Given the description of an element on the screen output the (x, y) to click on. 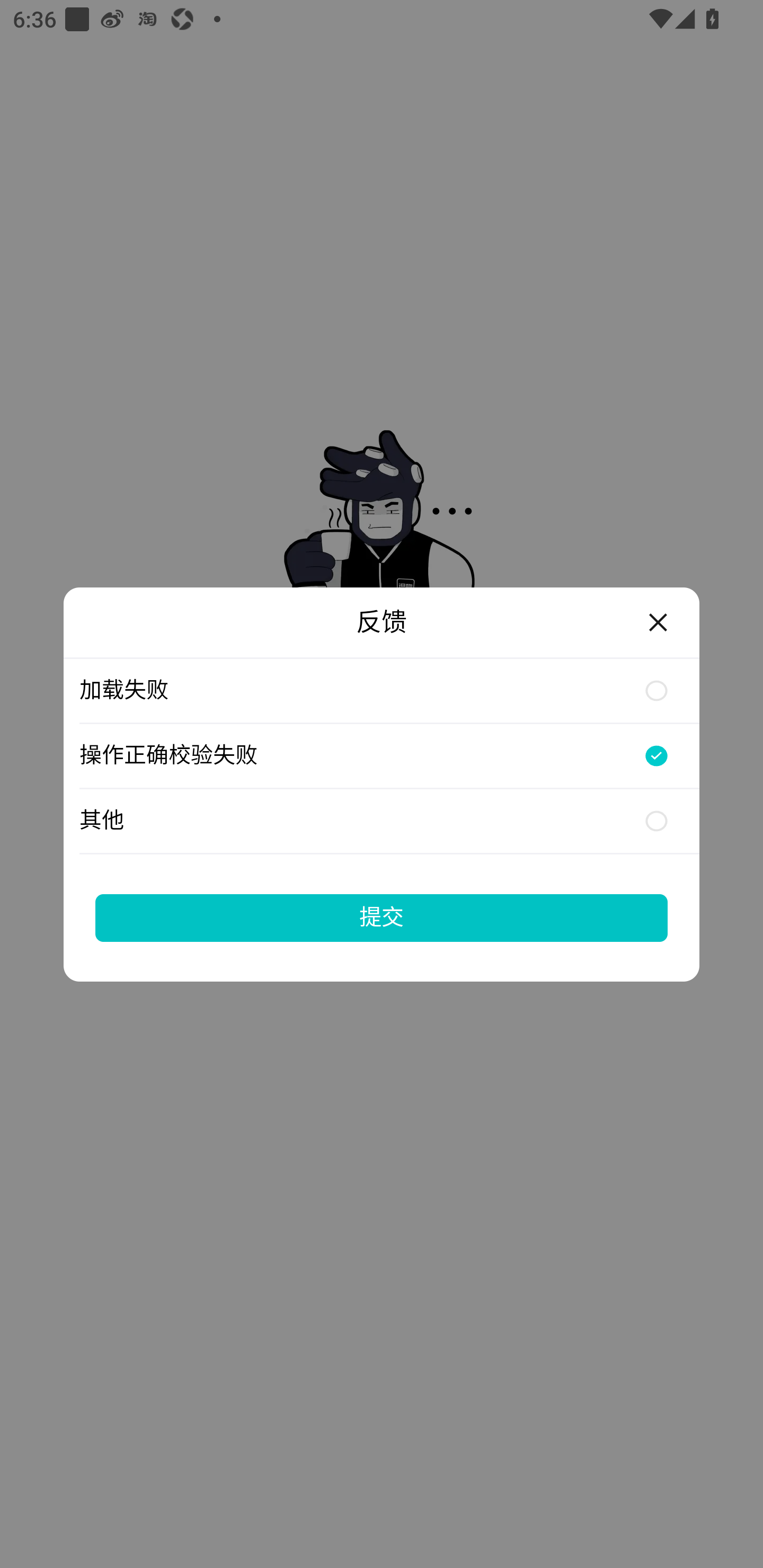
提交 (381, 917)
